Given the description of an element on the screen output the (x, y) to click on. 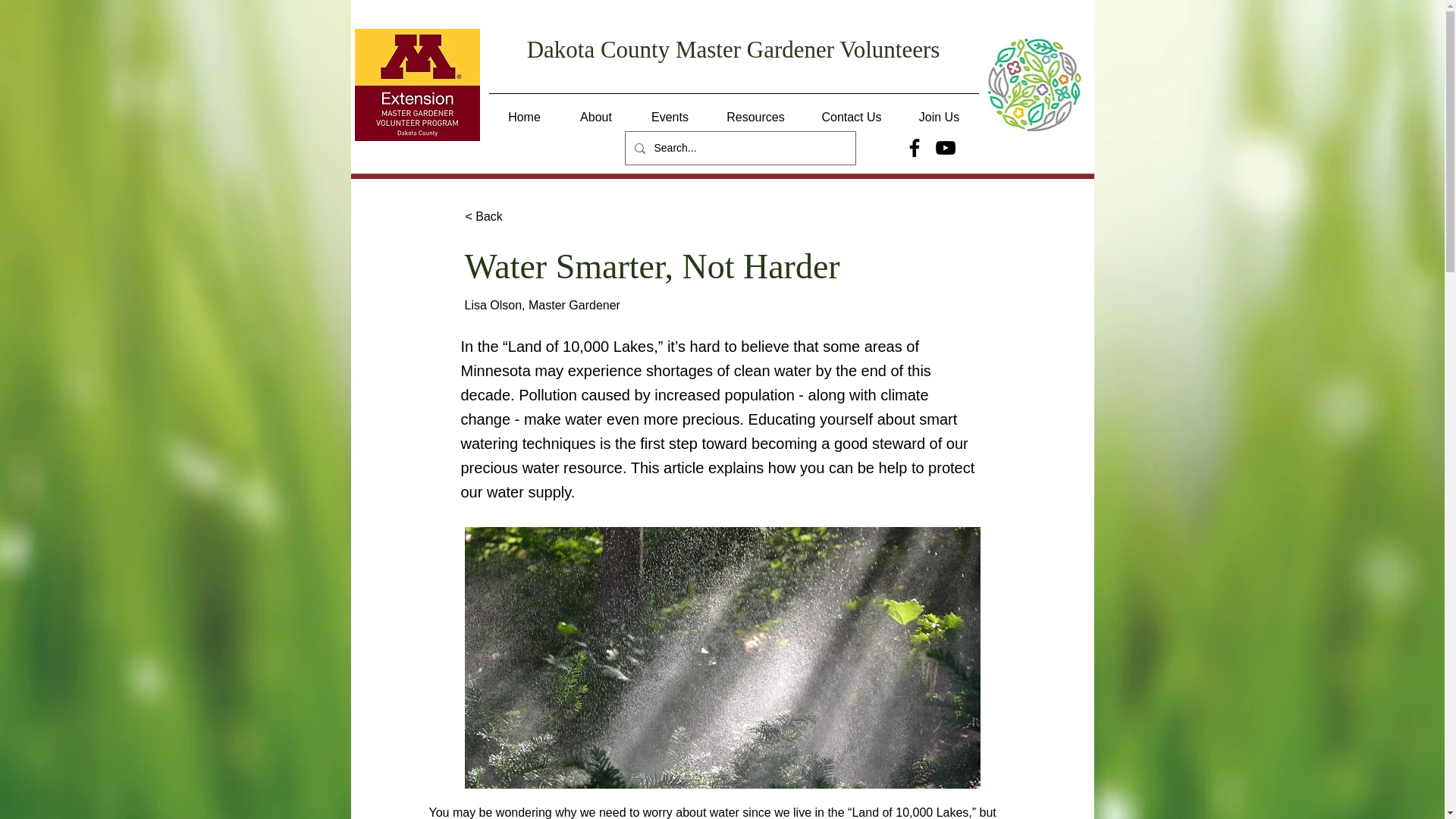
About (595, 110)
Contact Us (851, 110)
Join Us (938, 110)
Resources (755, 110)
Events (669, 110)
Home (523, 110)
Dakota County Master Gardener Volunteers (733, 49)
